Given the description of an element on the screen output the (x, y) to click on. 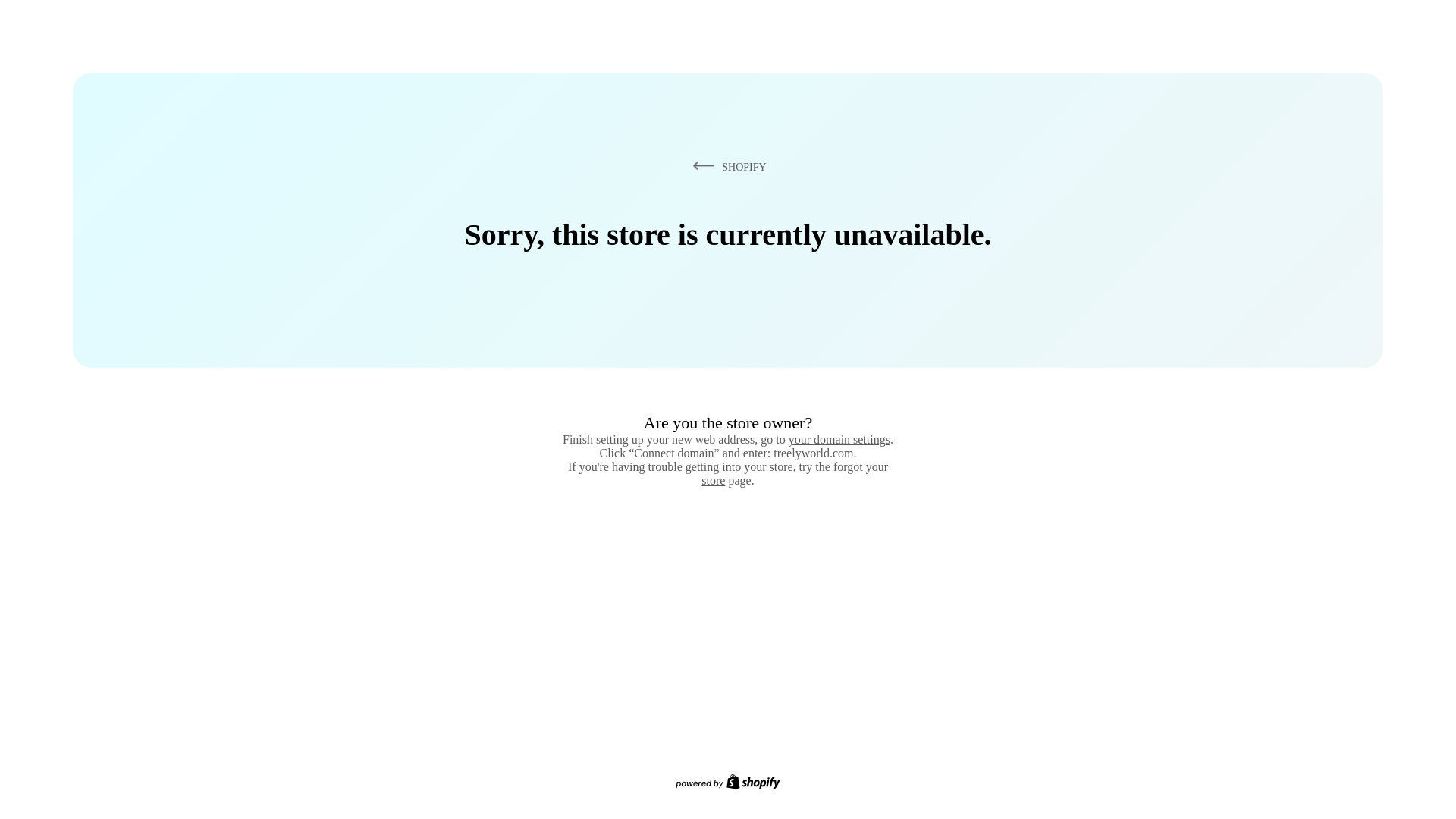
forgot your store (794, 473)
SHOPIFY (726, 166)
your domain settings (839, 439)
